Given the description of an element on the screen output the (x, y) to click on. 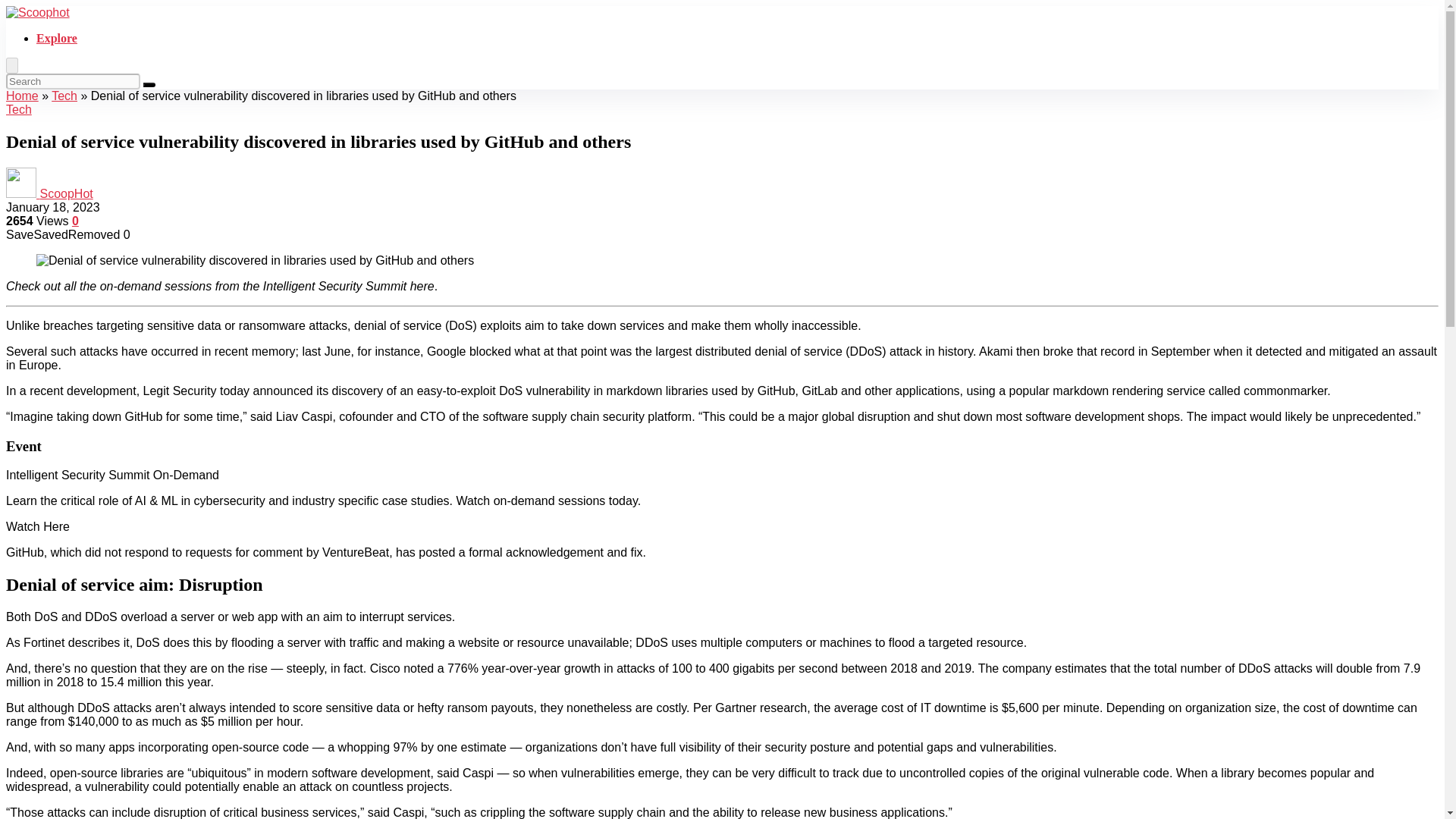
ScoopHot (66, 193)
View all posts in Tech (18, 109)
Tech (63, 95)
Tech (18, 109)
Explore (56, 38)
Home (22, 95)
